Given the description of an element on the screen output the (x, y) to click on. 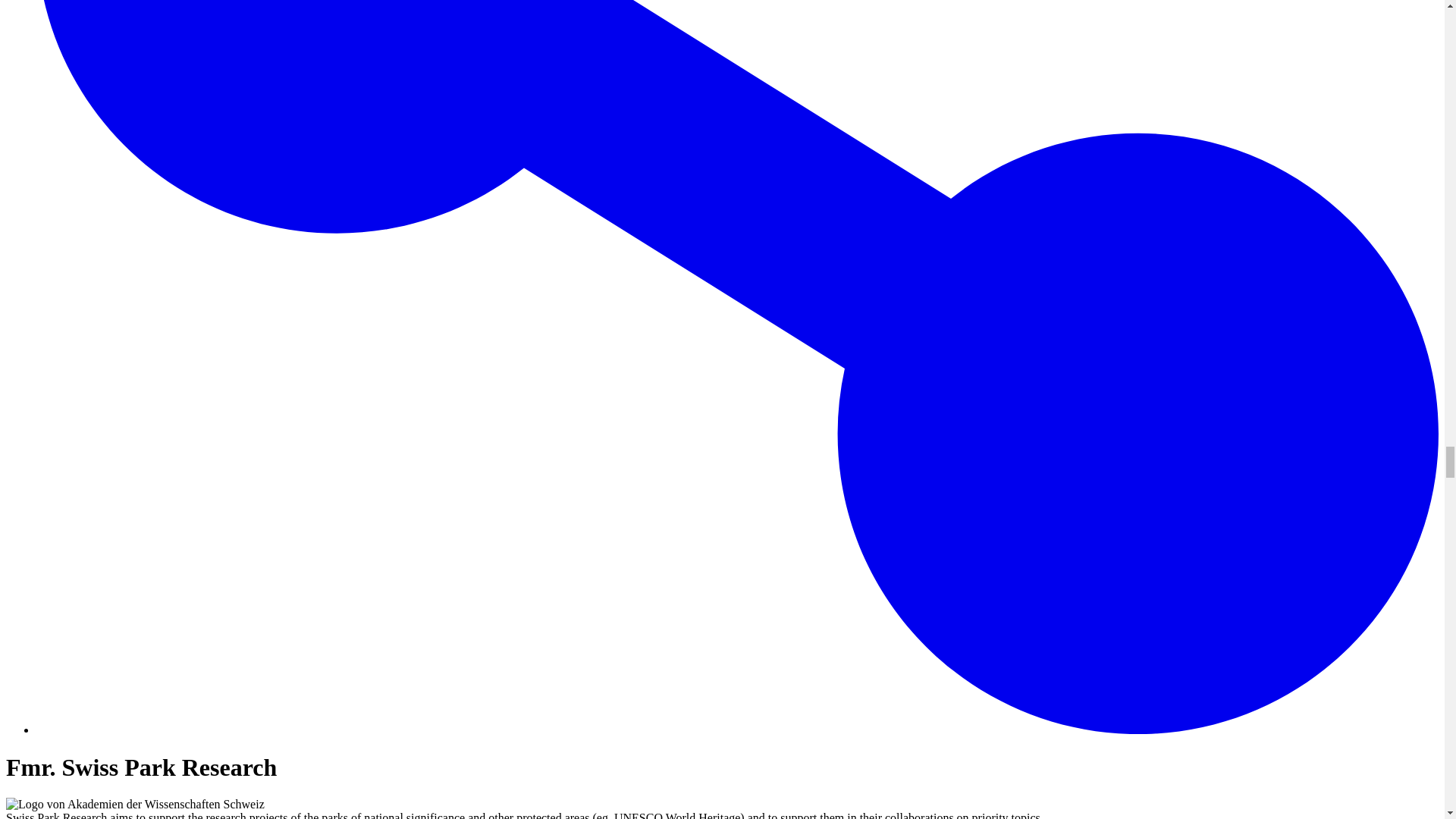
Logo von Akademien der Wissenschaften Schweiz (134, 804)
